Given the description of an element on the screen output the (x, y) to click on. 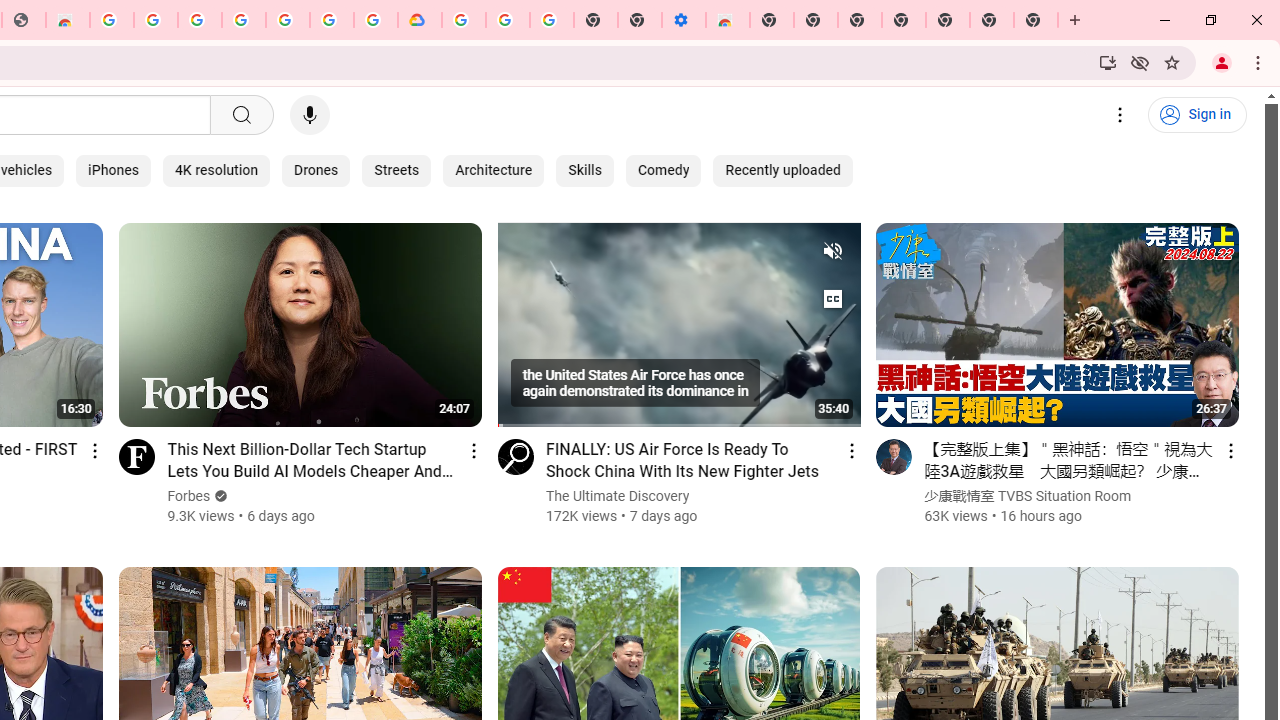
Unmute (832, 250)
Go to channel (893, 456)
Forbes (189, 496)
Action menu (1229, 449)
New Tab (947, 20)
Subtitles/CC turned on (832, 298)
Streets (397, 170)
Drones (315, 170)
Google Account Help (507, 20)
Search with your voice (309, 115)
Chrome Web Store - Accessibility extensions (728, 20)
